Given the description of an element on the screen output the (x, y) to click on. 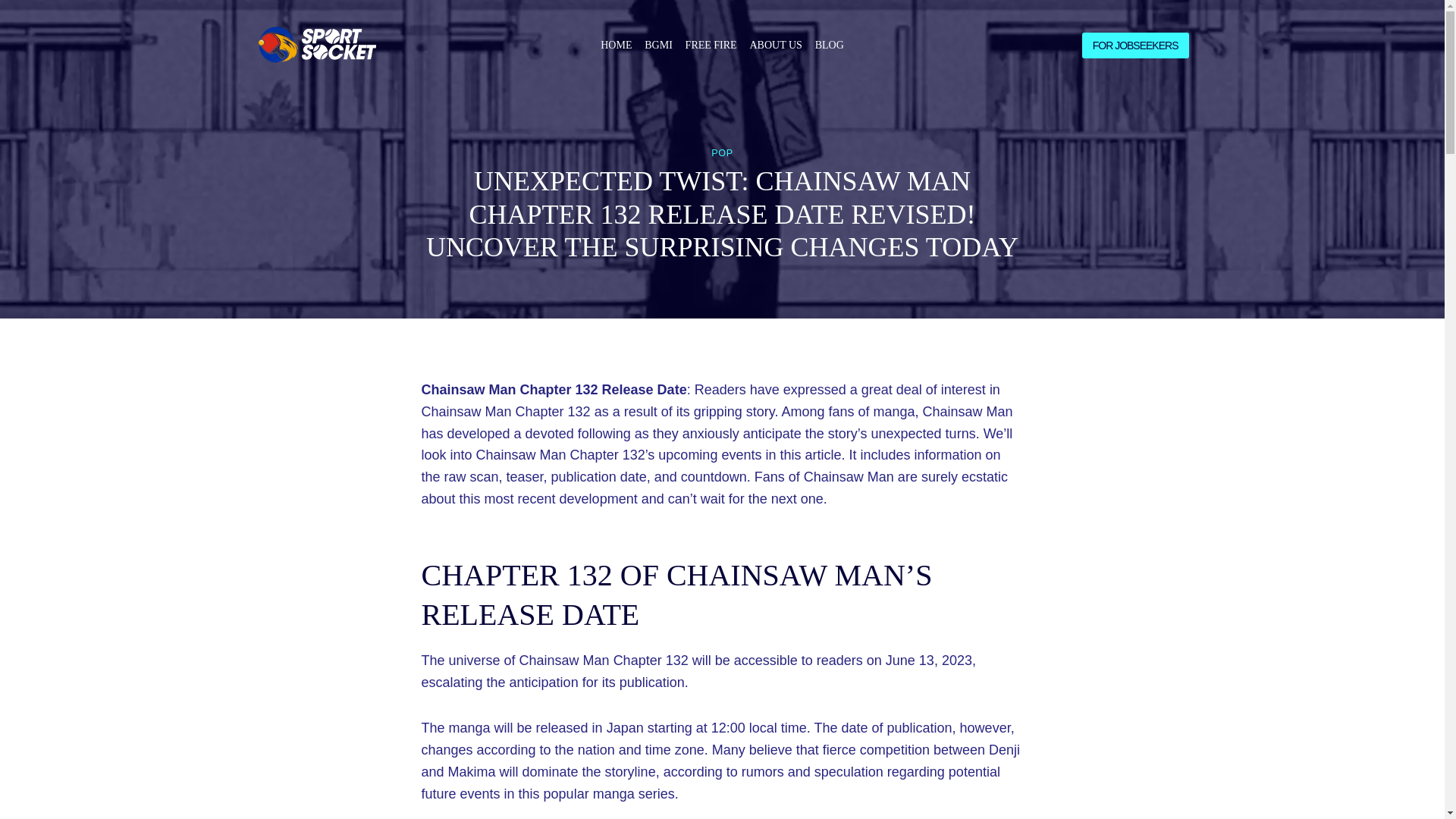
POP (722, 153)
FREE FIRE (710, 45)
FOR JOBSEEKERS (1135, 45)
HOME (616, 45)
BLOG (829, 45)
ABOUT US (775, 45)
BGMI (658, 45)
